Given the description of an element on the screen output the (x, y) to click on. 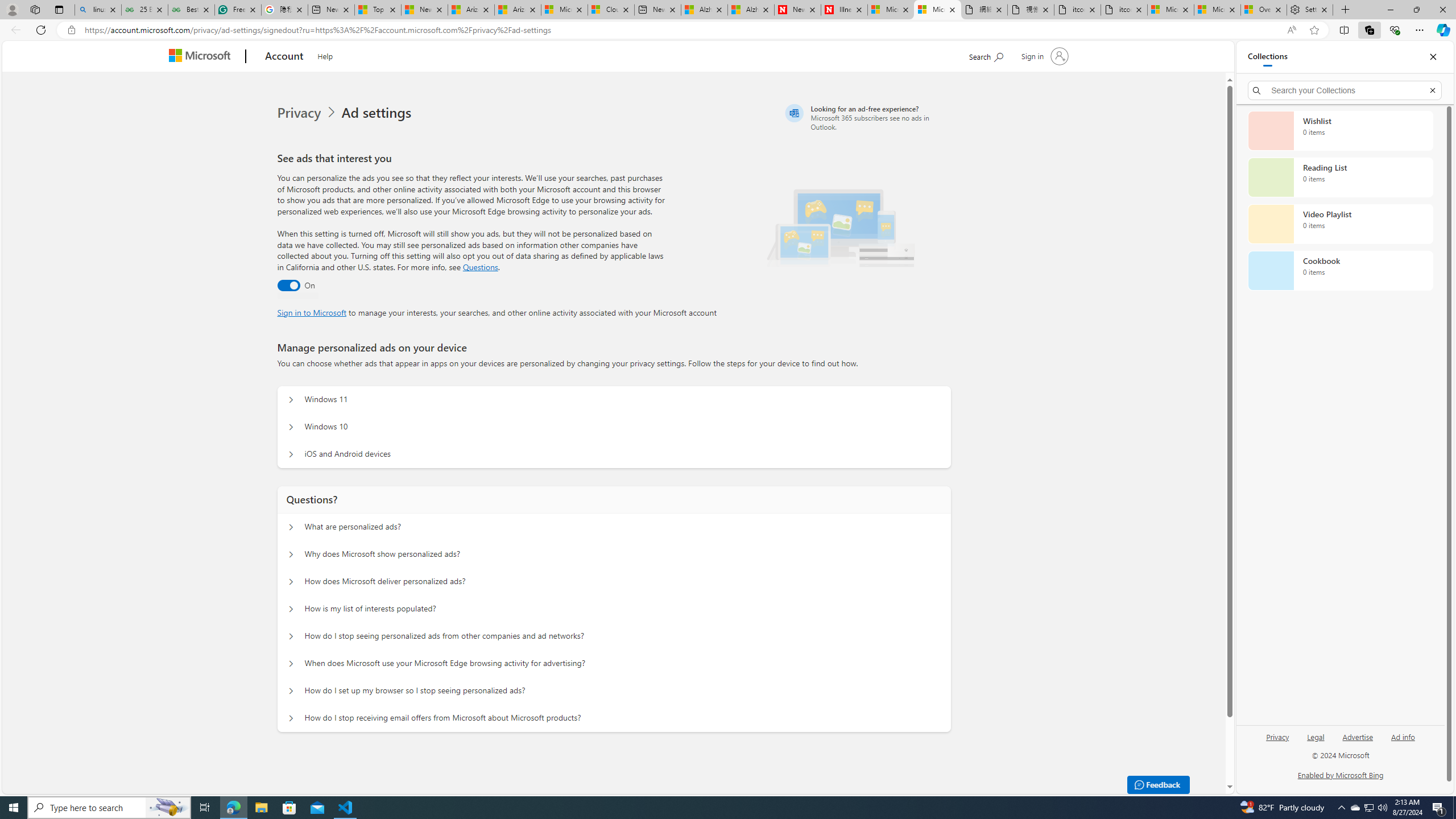
Exit search (1432, 90)
Cookbook collection, 0 items (1339, 270)
Legal (1315, 741)
itconcepthk.com/projector_solutions.mp4 (1123, 9)
Help (324, 54)
Wishlist collection, 0 items (1339, 130)
Manage personalized ads on your device Windows 10 (290, 427)
25 Basic Linux Commands For Beginners - GeeksforGeeks (144, 9)
